Given the description of an element on the screen output the (x, y) to click on. 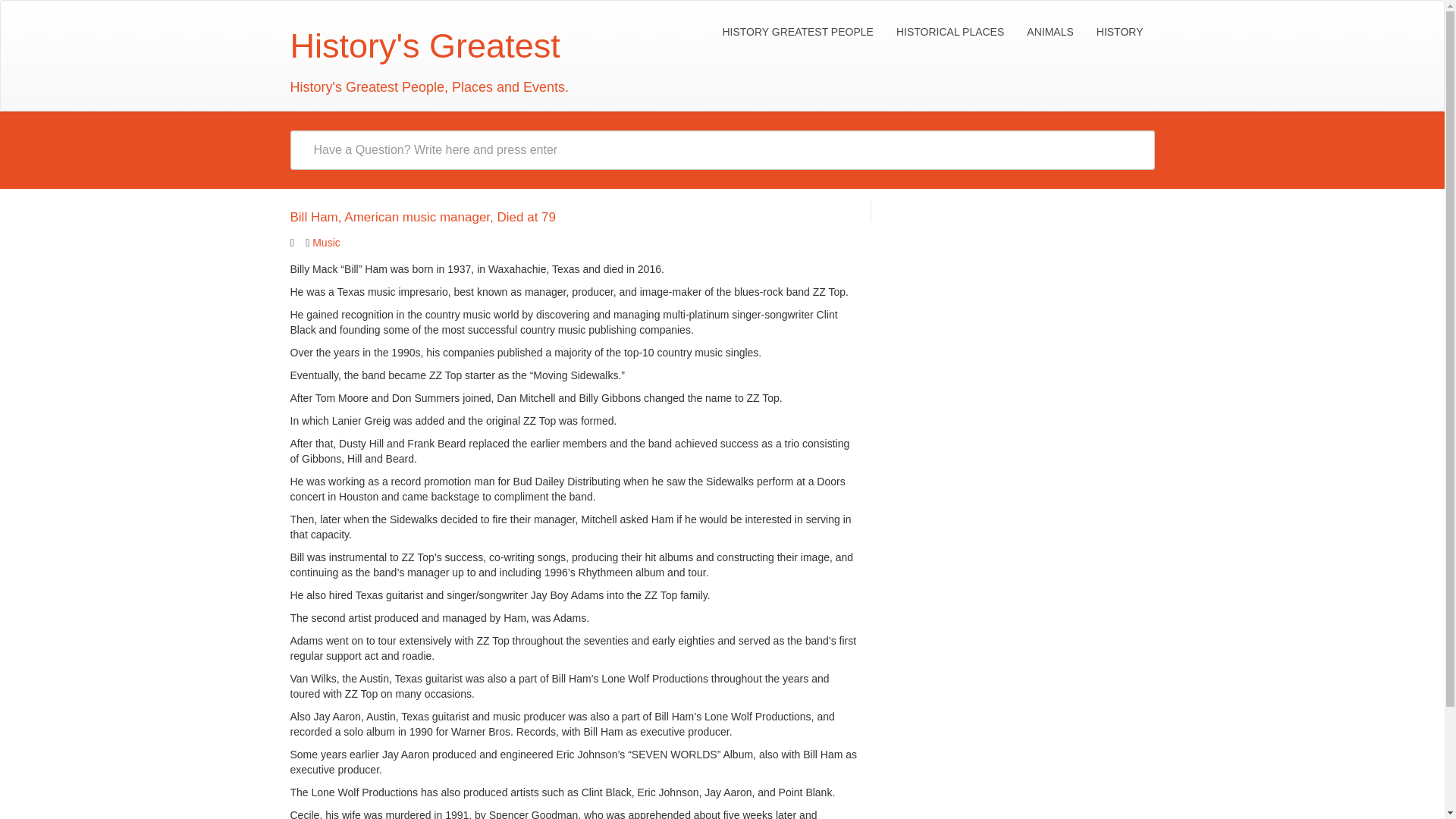
HISTORY GREATEST PEOPLE (796, 31)
Music (326, 242)
HISTORICAL PLACES (949, 31)
HISTORY (1119, 31)
ANIMALS (1049, 31)
History's Greatest People, Places and Events. (424, 59)
